Given the description of an element on the screen output the (x, y) to click on. 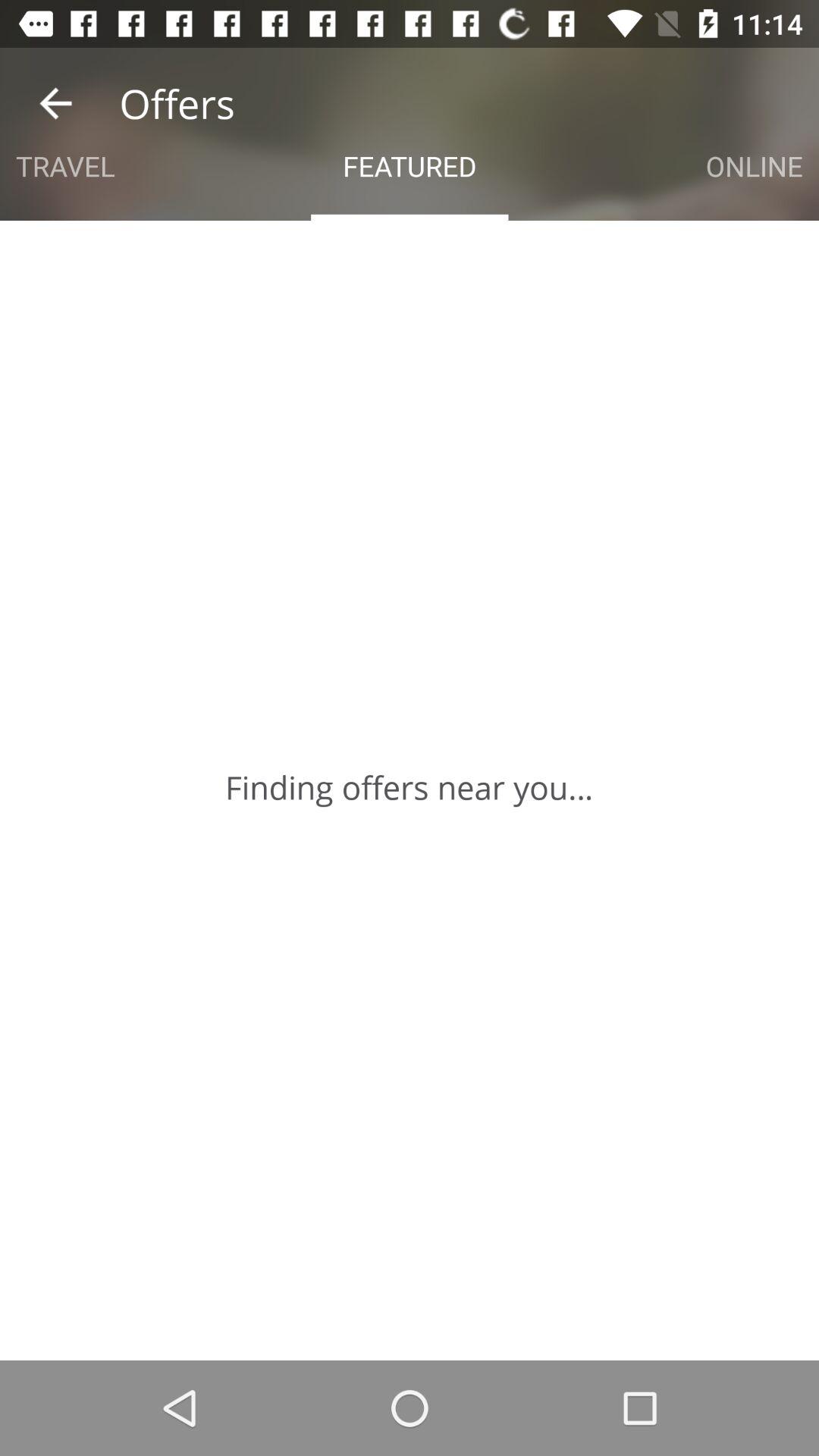
open the icon to the left of featured app (64, 165)
